Given the description of an element on the screen output the (x, y) to click on. 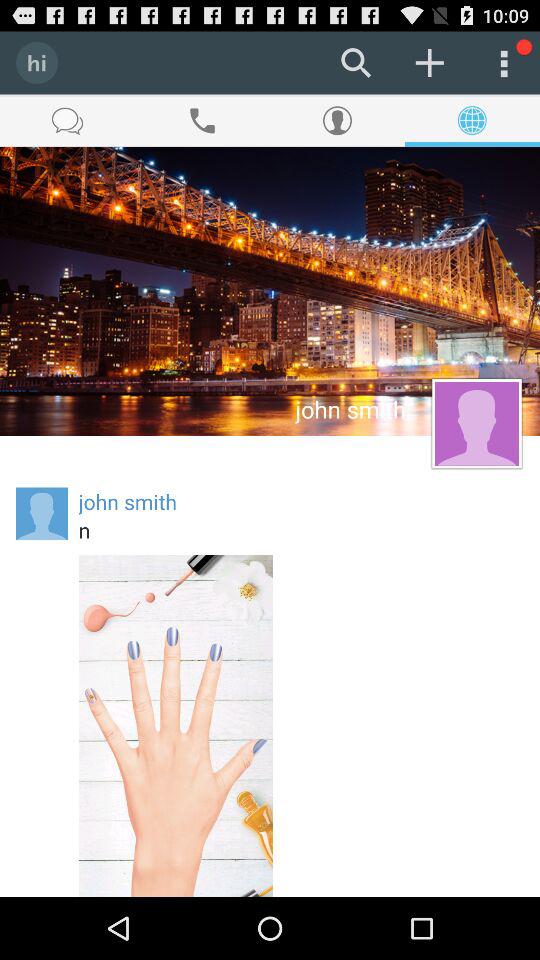
open the n item (301, 530)
